Given the description of an element on the screen output the (x, y) to click on. 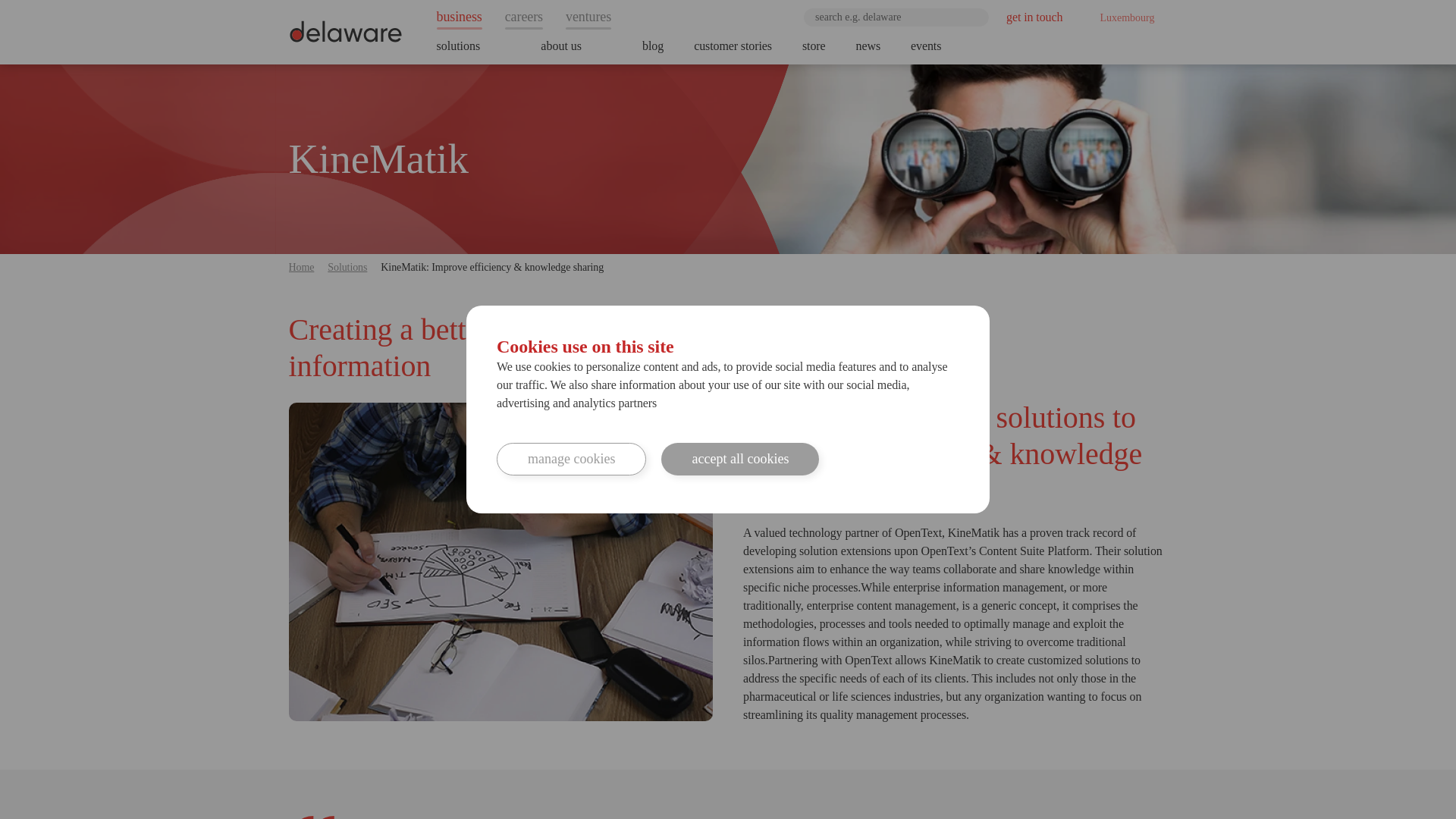
get in touch (1034, 16)
Luxembourg (1122, 17)
